Given the description of an element on the screen output the (x, y) to click on. 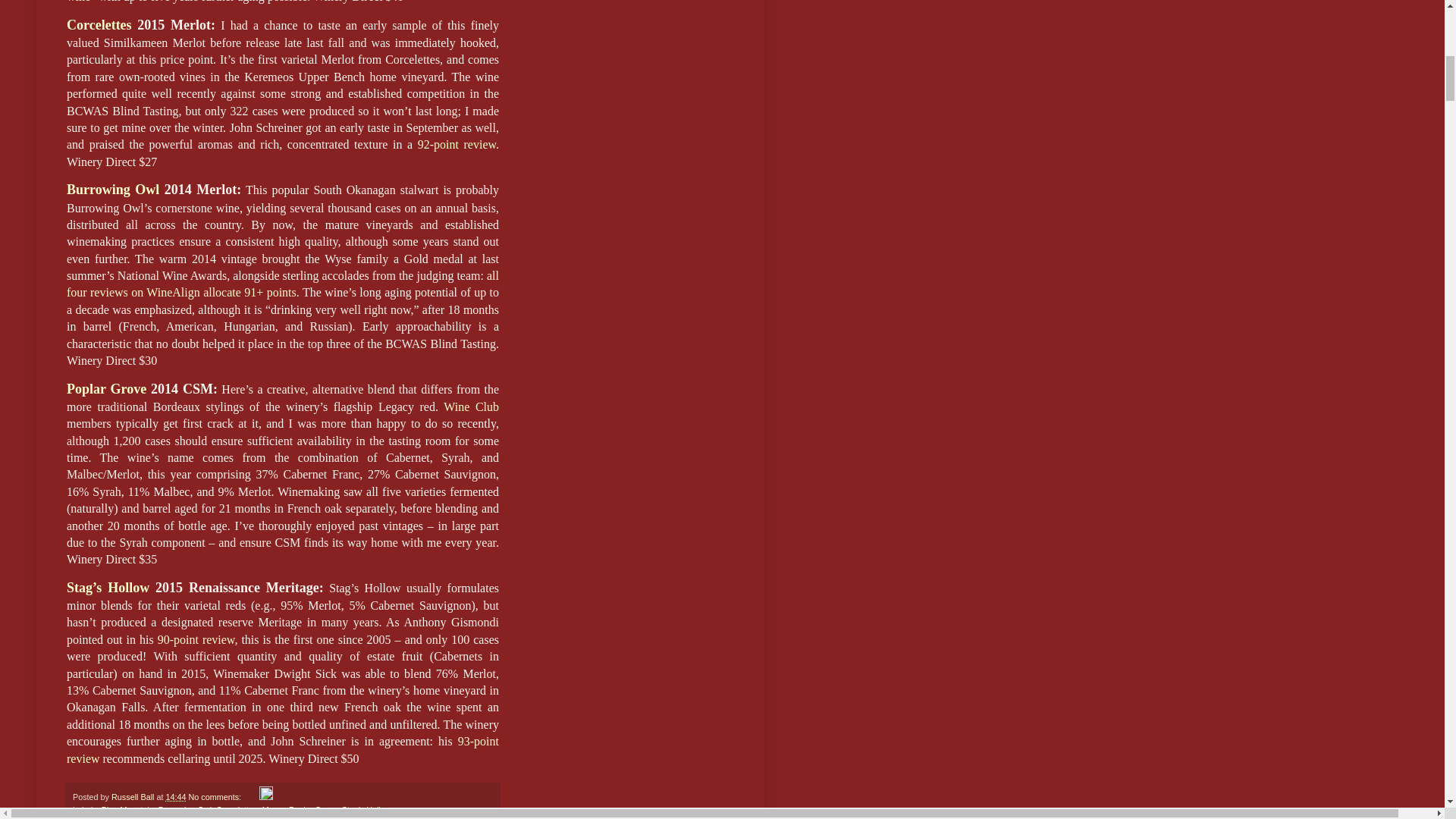
Email Post (251, 796)
93-point review (282, 750)
permanent link (175, 796)
Edit Post (266, 796)
Corcelettes (236, 809)
90-point review (195, 640)
Wine Club (471, 407)
No comments: (215, 796)
author profile (133, 796)
Russell Ball (133, 796)
14:44 (175, 796)
Meyer (272, 809)
Poplar Grove (106, 389)
Burrowing Owl (112, 190)
